Given the description of an element on the screen output the (x, y) to click on. 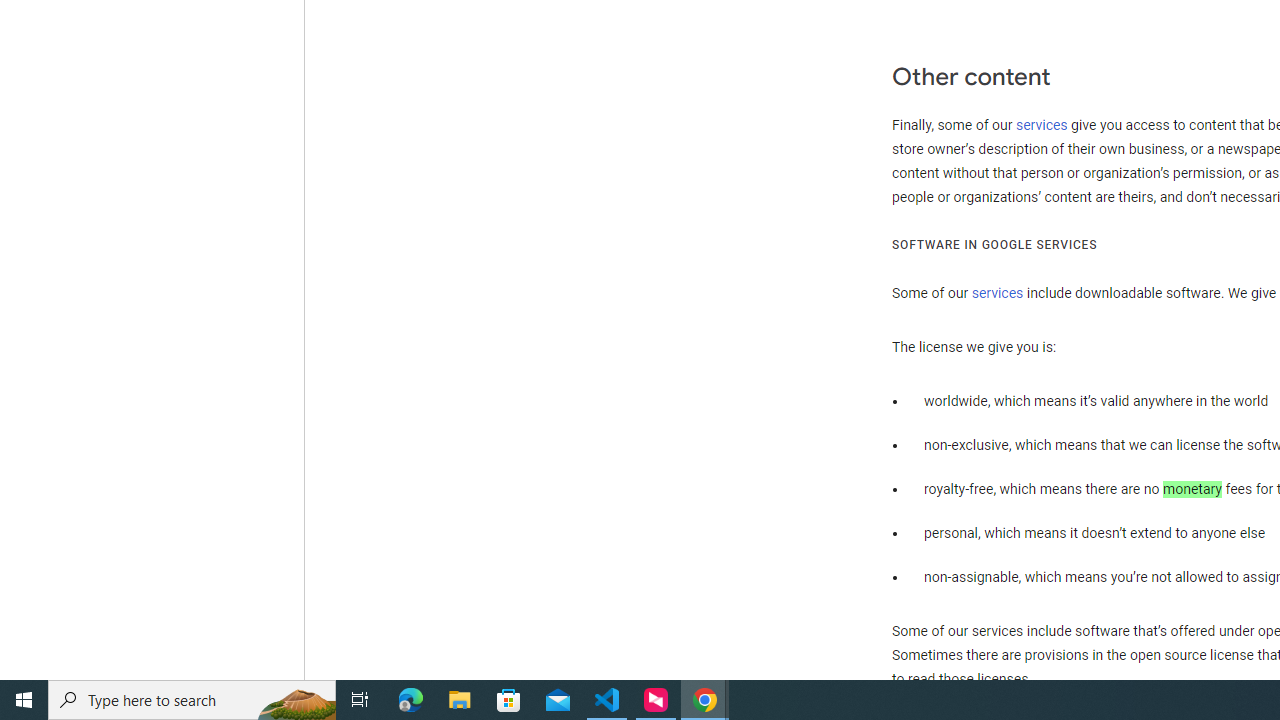
services (997, 294)
